Given the description of an element on the screen output the (x, y) to click on. 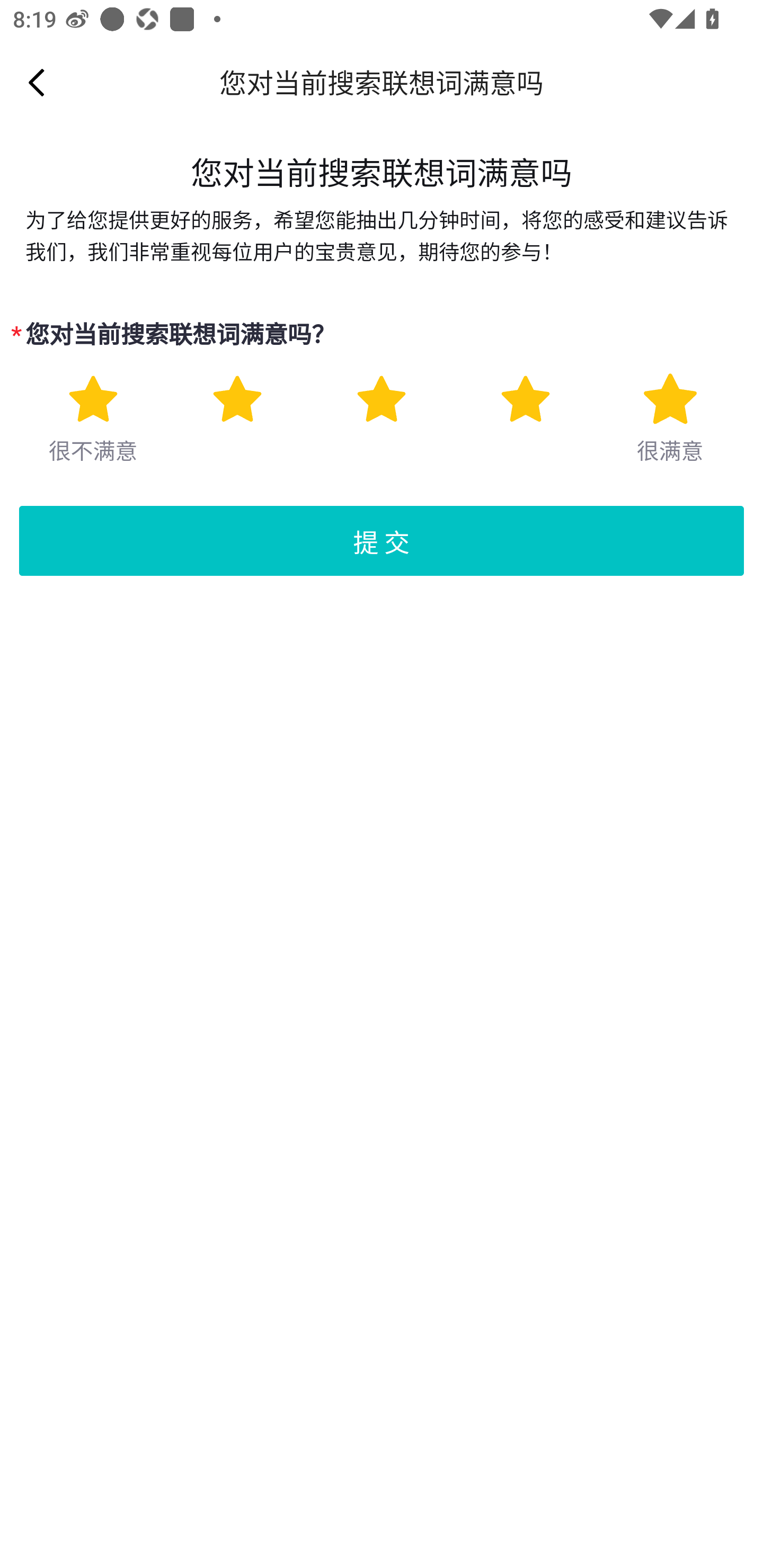
Navigate up (36, 82)
star star (669, 399)
star star (92, 399)
star star (237, 399)
star star (381, 399)
star star (524, 399)
提 交 (381, 540)
